Given the description of an element on the screen output the (x, y) to click on. 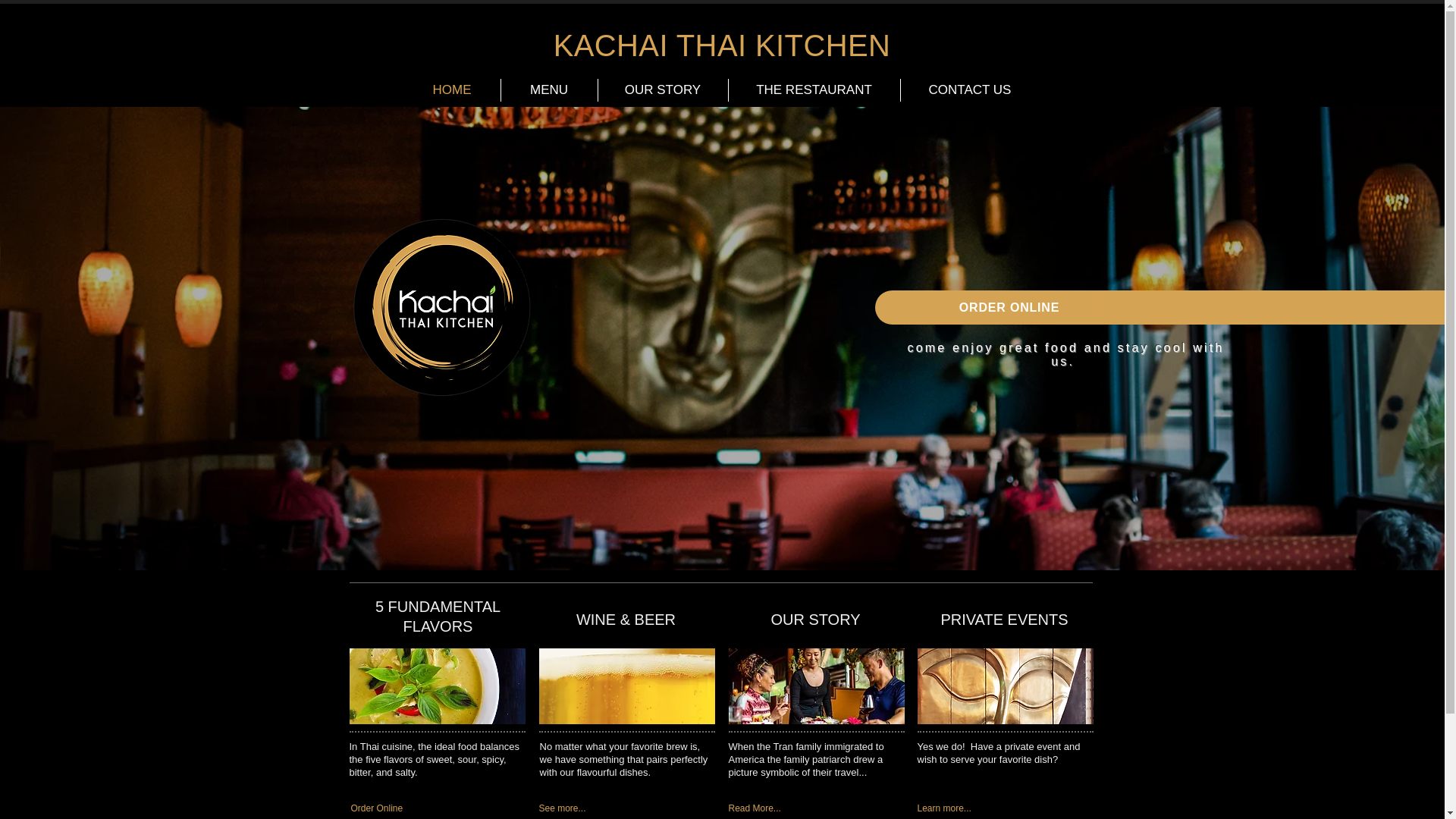
HOME (451, 89)
THE RESTAURANT (813, 89)
See more... (616, 808)
CONTACT US (970, 89)
MENU (548, 89)
Learn more... (995, 808)
Read More... (805, 808)
ORDER ONLINE (1009, 307)
Order Online (427, 808)
OUR STORY (661, 89)
